Given the description of an element on the screen output the (x, y) to click on. 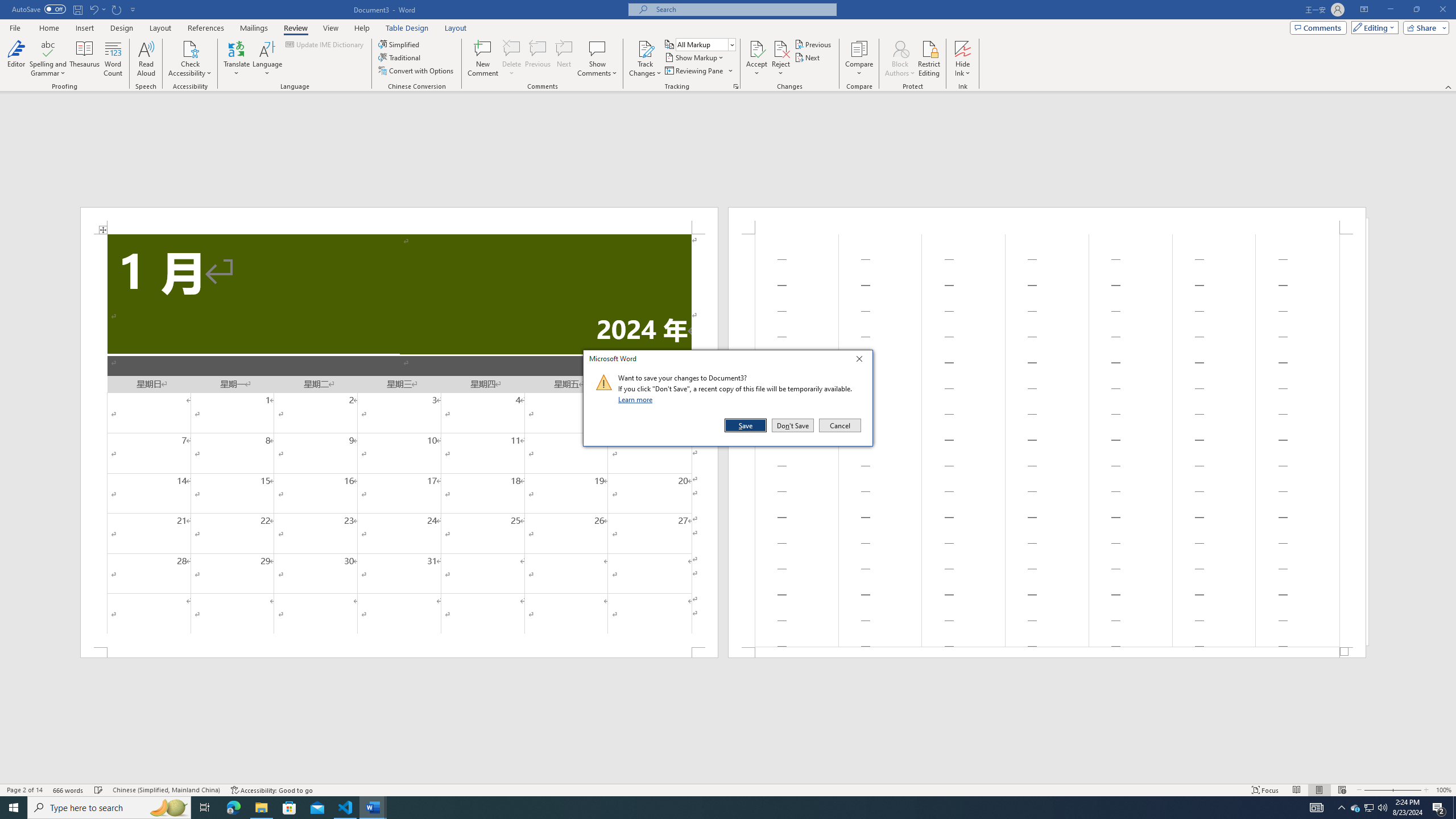
Notification Chevron (1341, 807)
Previous (813, 44)
Reject (1355, 807)
Display for Review (780, 58)
Running applications (705, 44)
Delete (717, 807)
Word Count (511, 58)
